Given the description of an element on the screen output the (x, y) to click on. 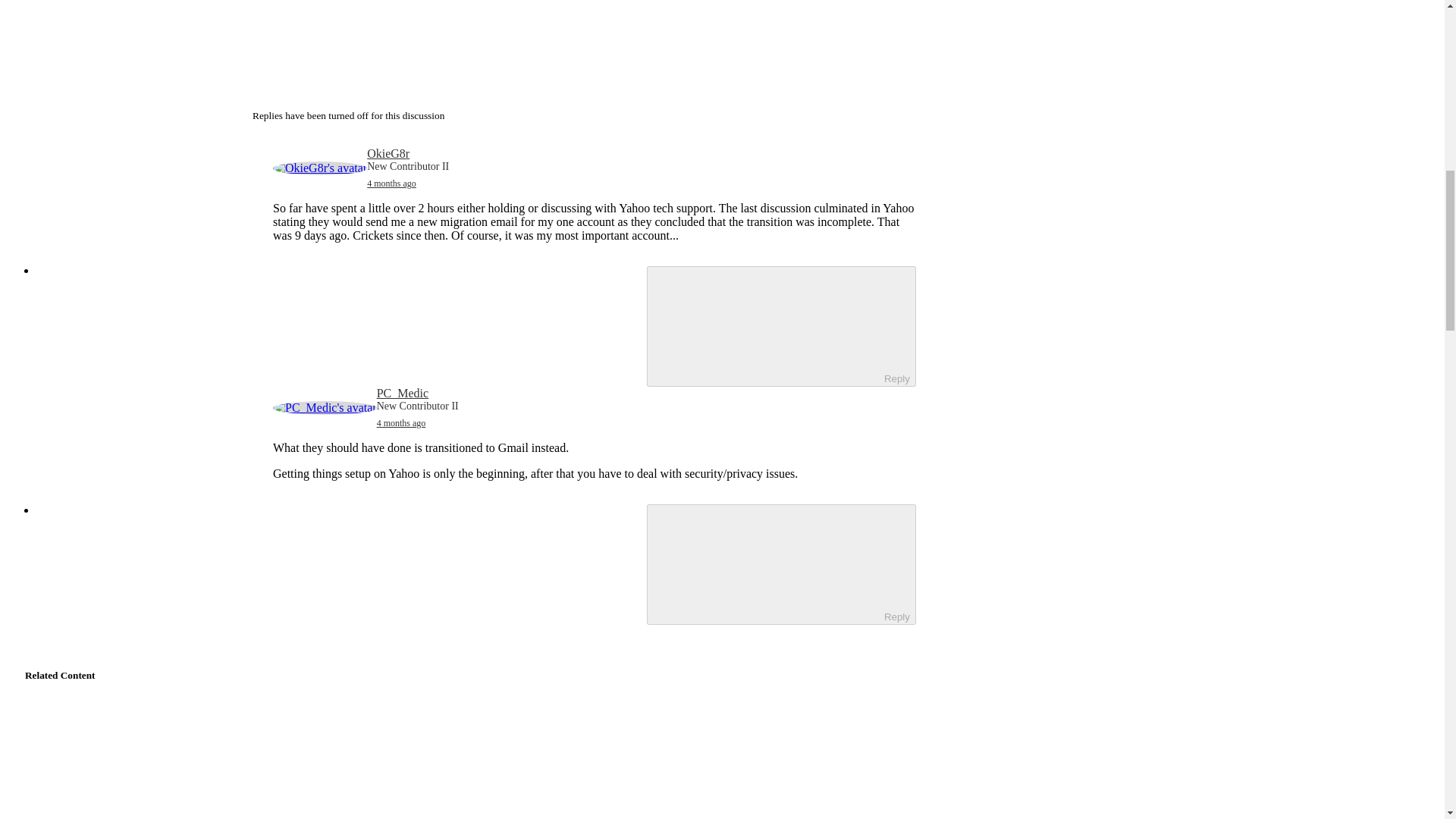
Reply (766, 562)
4 months ago (391, 183)
April 9, 2024 at 3:49 PM (391, 183)
ReplyReply (780, 564)
Reply (766, 325)
OkieG8r (387, 153)
April 14, 2024 at 2:29 PM (401, 422)
ReplyReply (780, 326)
4 months ago (401, 422)
